Given the description of an element on the screen output the (x, y) to click on. 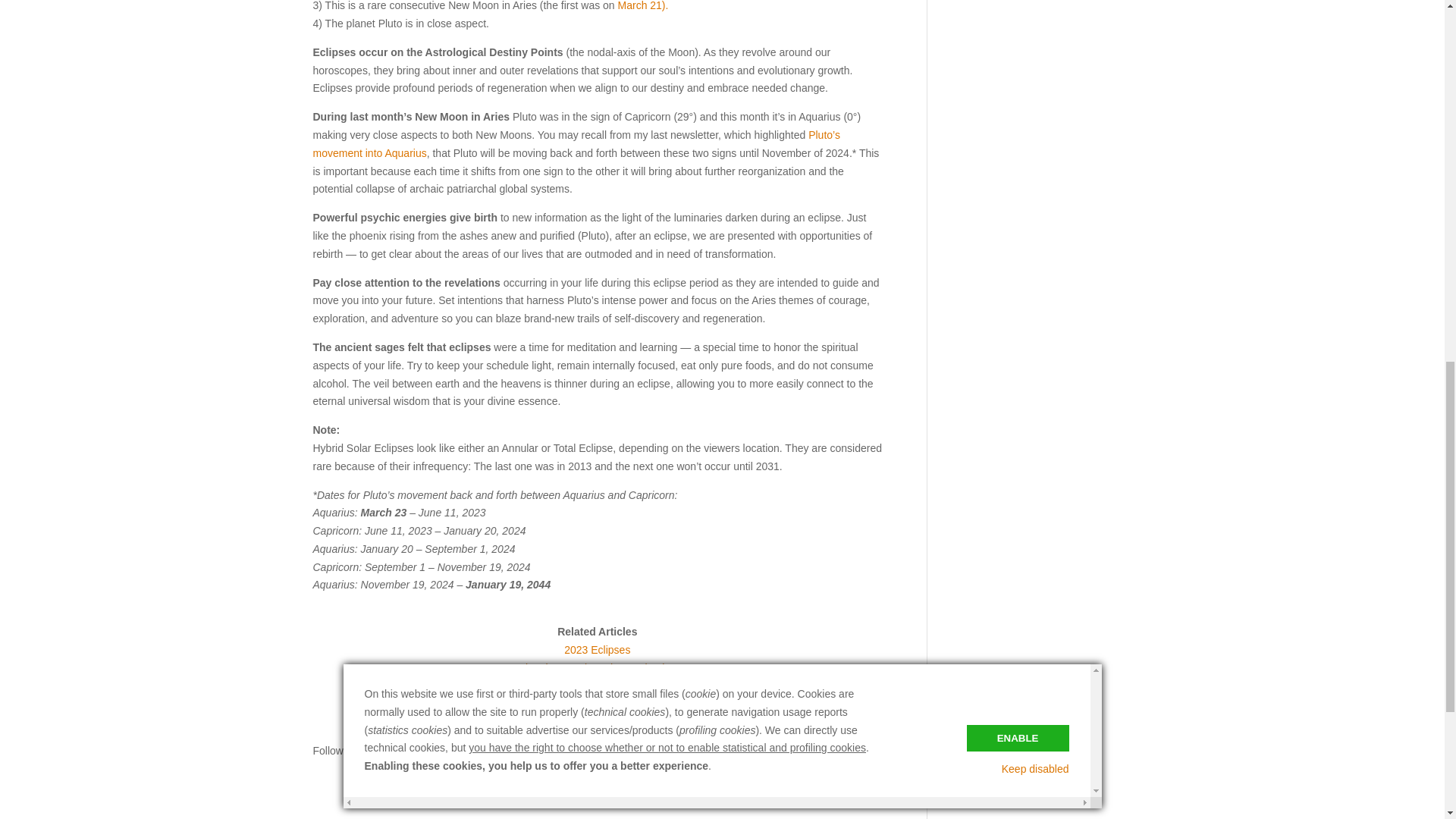
Instagram (608, 772)
Facebook (560, 772)
LinkedIn (633, 772)
Twitter (584, 772)
